Given the description of an element on the screen output the (x, y) to click on. 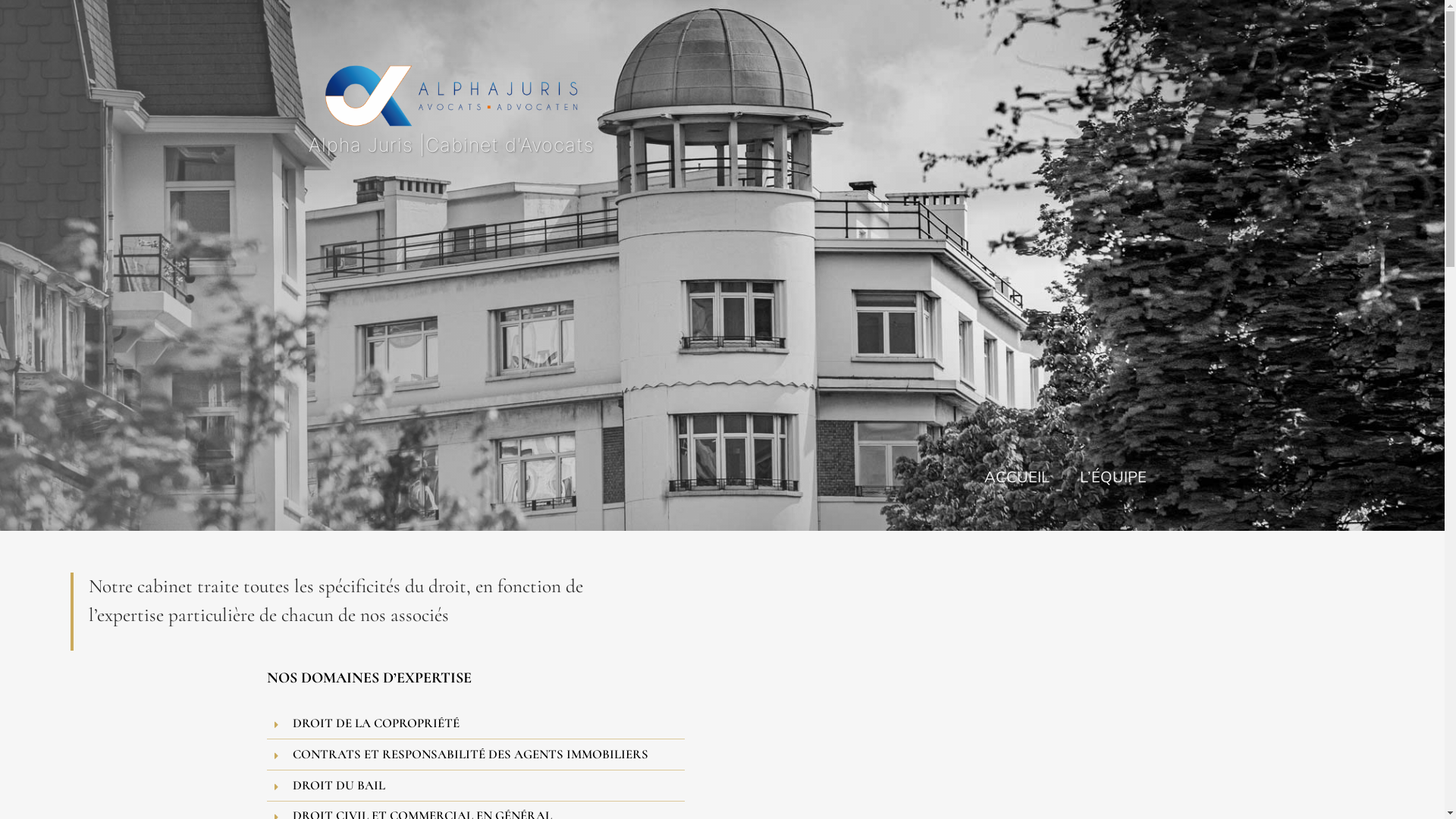
ACCUEIL Element type: text (1016, 474)
